Given the description of an element on the screen output the (x, y) to click on. 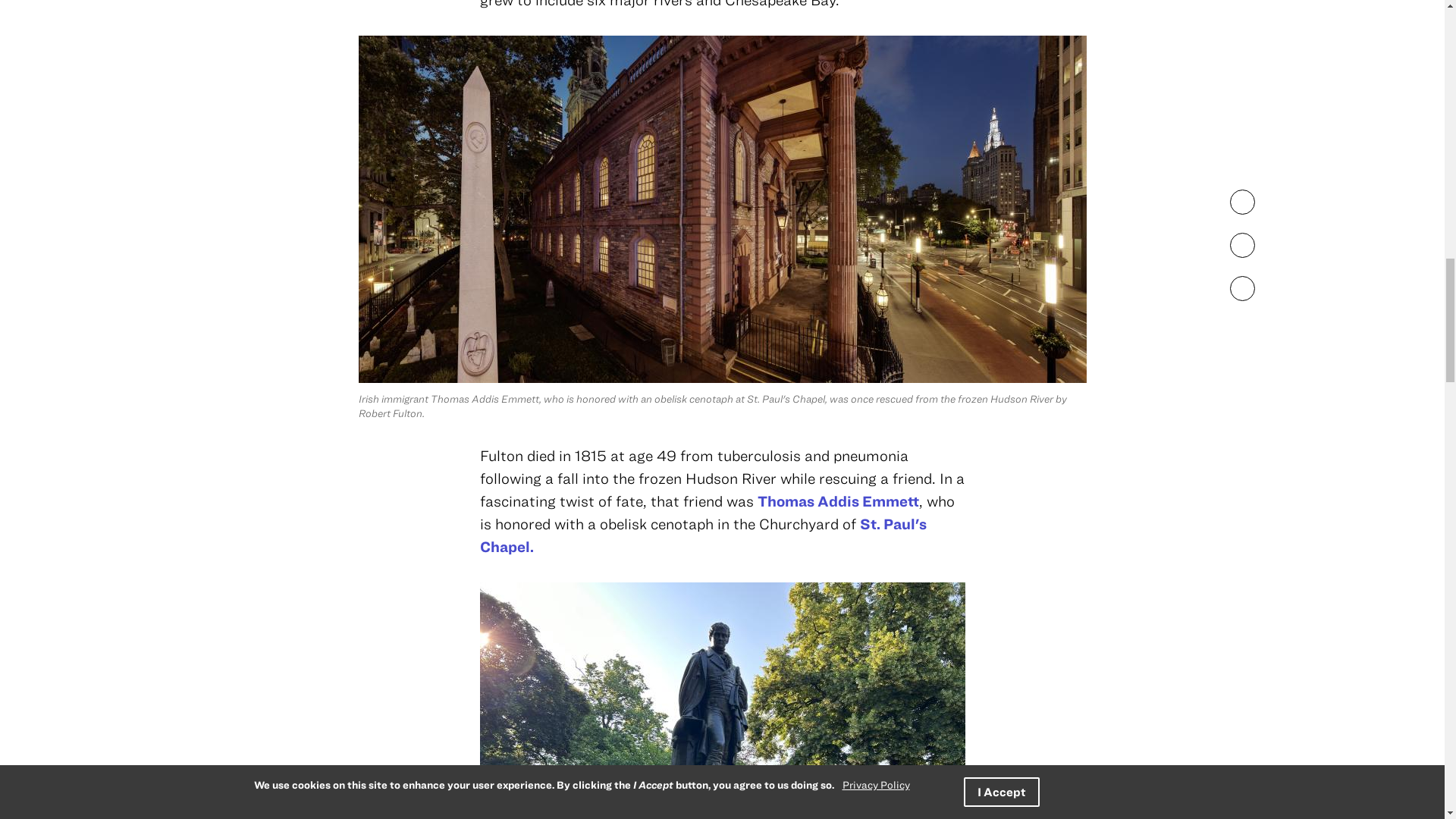
St. Paul's Chapel. (702, 535)
Thomas Addis Emmett (837, 500)
